Given the description of an element on the screen output the (x, y) to click on. 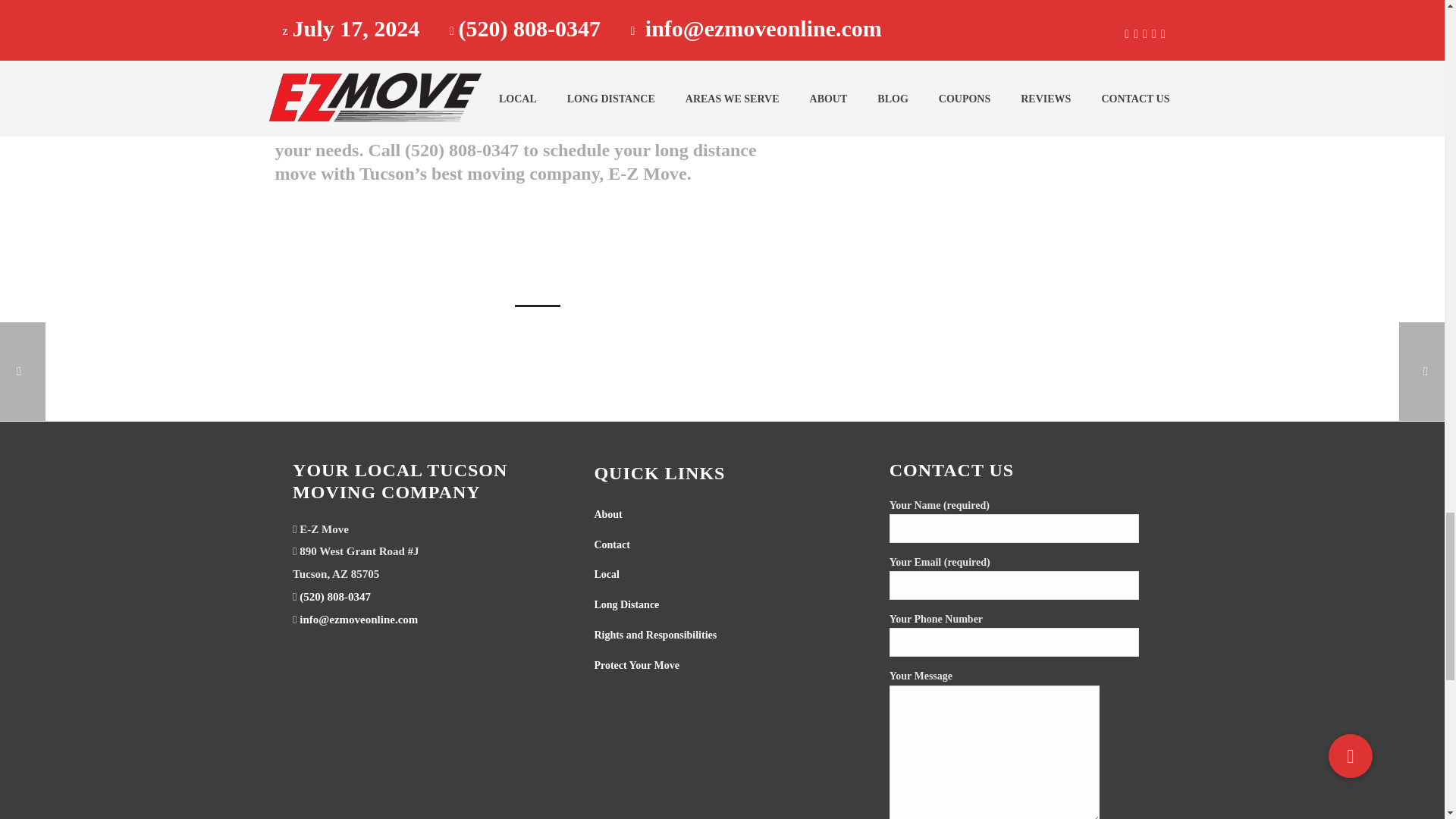
Print (453, 239)
EZMove Google Map Location (405, 740)
